Given the description of an element on the screen output the (x, y) to click on. 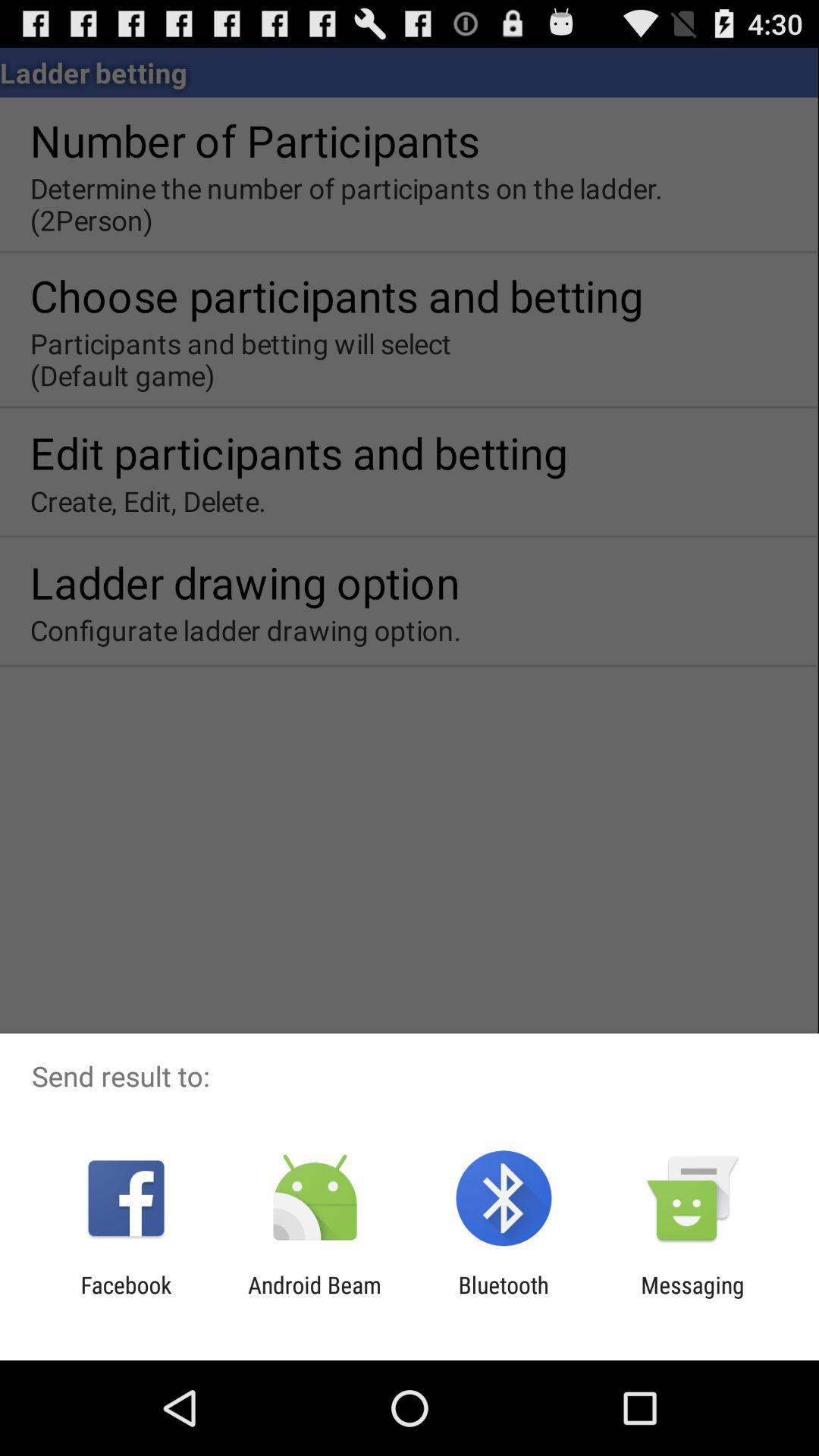
scroll until bluetooth item (503, 1298)
